Given the description of an element on the screen output the (x, y) to click on. 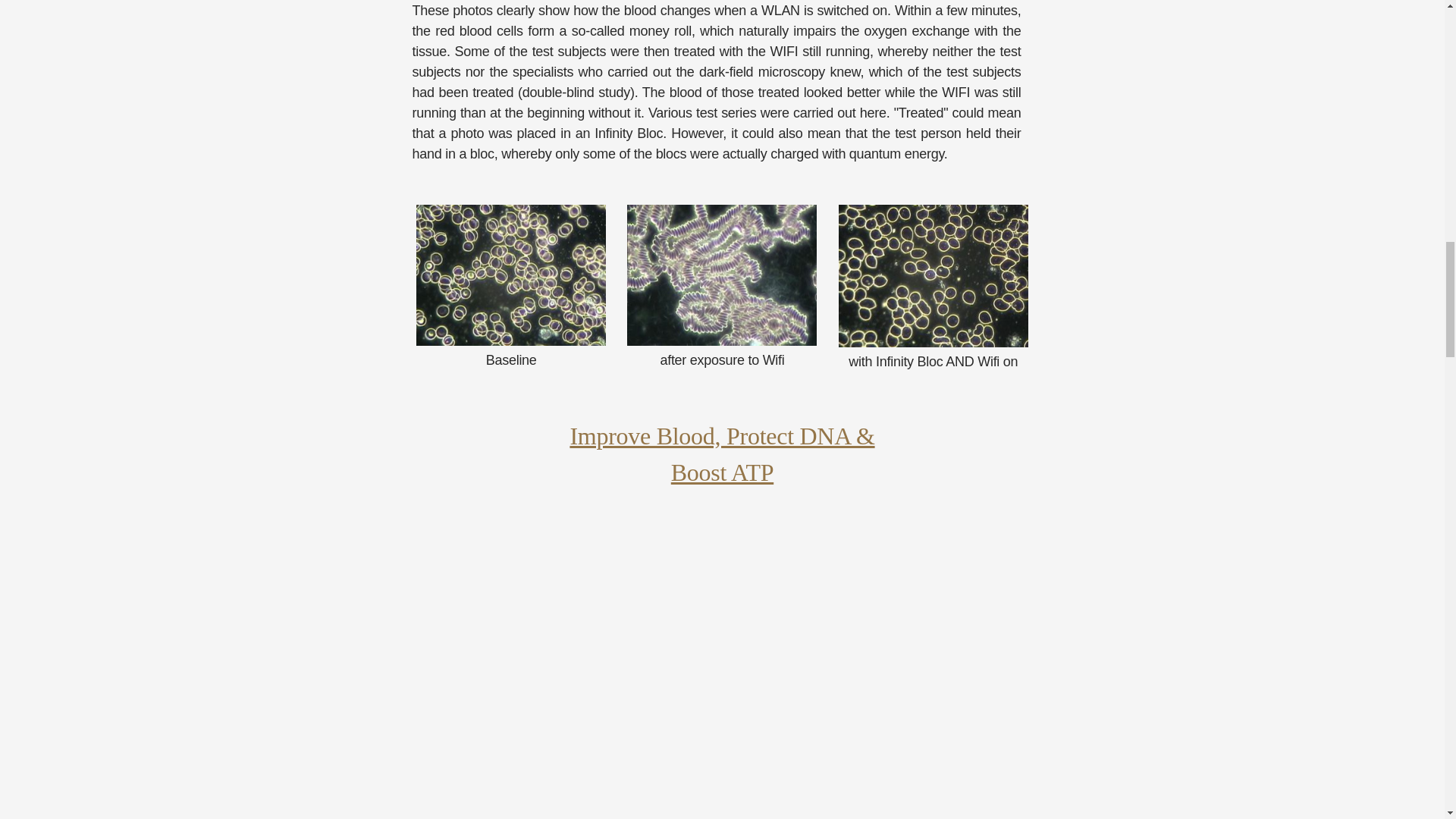
Wifi (721, 274)
Correct-Baseline-Blood (510, 274)
2 (932, 275)
